Given the description of an element on the screen output the (x, y) to click on. 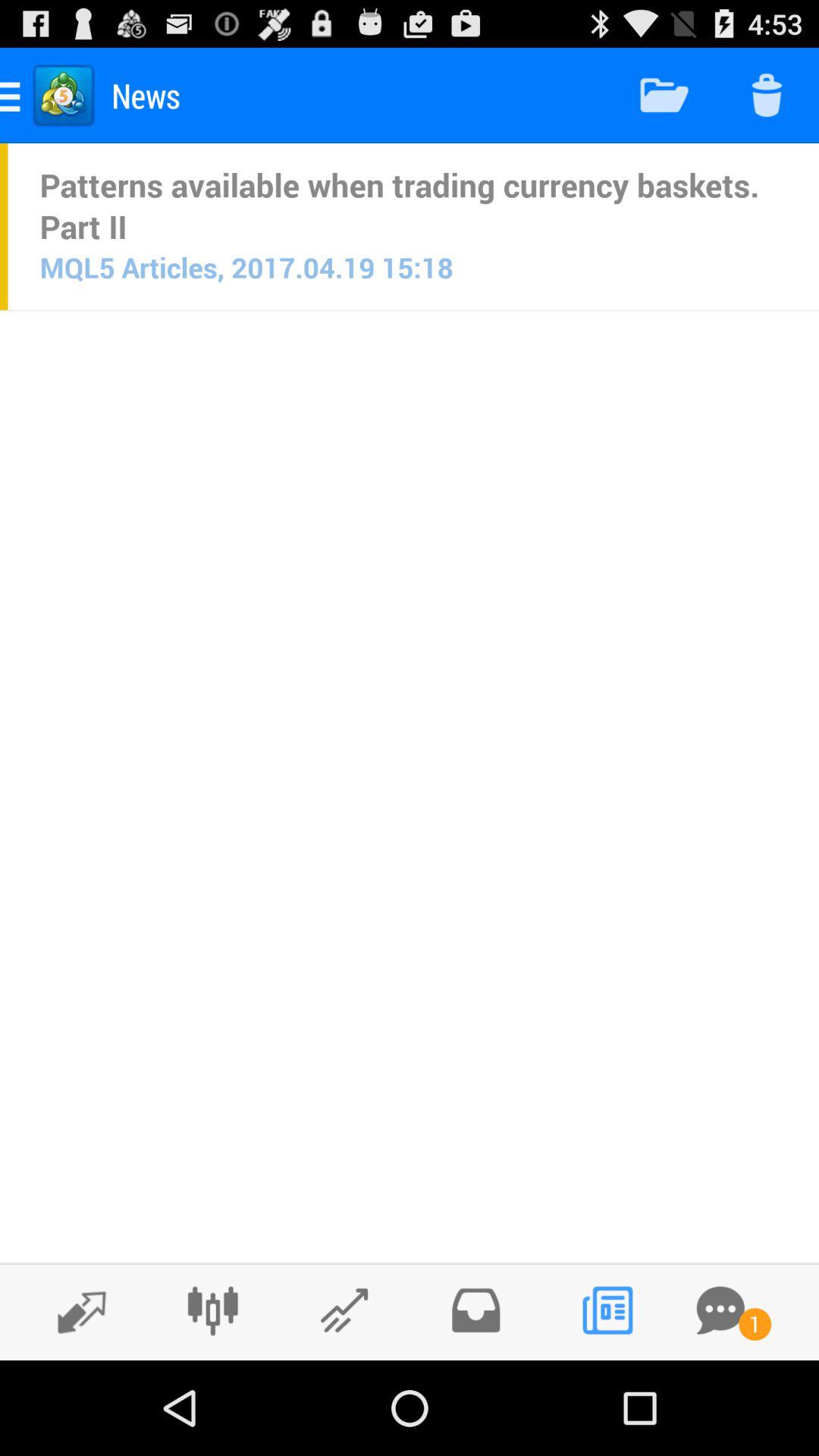
press item above mql5 articles 2017 item (413, 205)
